Given the description of an element on the screen output the (x, y) to click on. 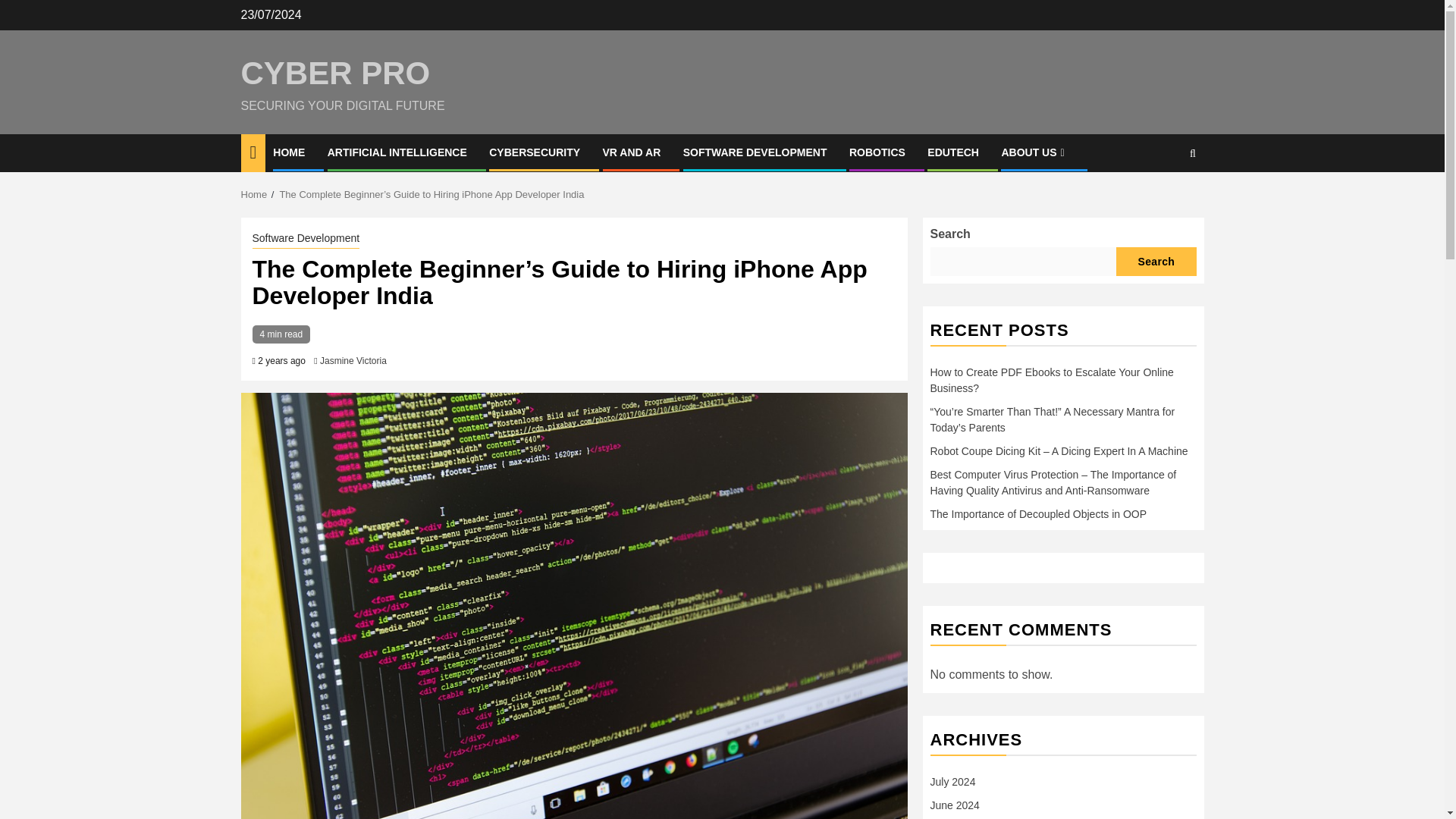
CYBER PRO (335, 72)
CYBERSECURITY (534, 152)
Search (1155, 261)
Software Development (305, 239)
VR AND AR (631, 152)
Jasmine Victoria (353, 360)
EDUTECH (952, 152)
Search (1163, 199)
ARTIFICIAL INTELLIGENCE (397, 152)
HOME (288, 152)
SOFTWARE DEVELOPMENT (754, 152)
ABOUT US (1034, 152)
Home (254, 194)
ROBOTICS (876, 152)
